Given the description of an element on the screen output the (x, y) to click on. 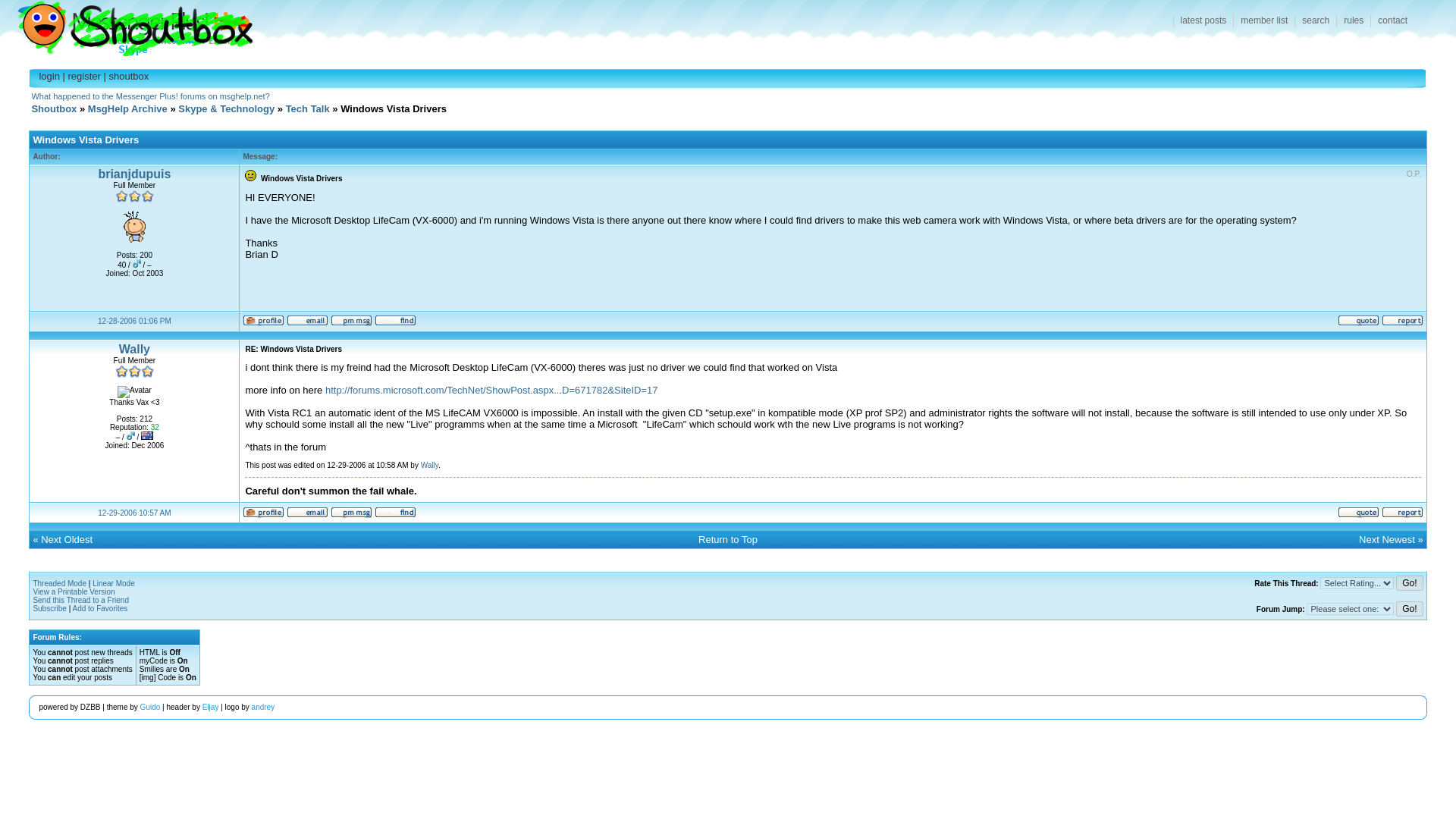
Threaded Mode (58, 583)
contact (1391, 21)
Tech Talk (307, 108)
Wally (134, 349)
register (83, 75)
MsgHelp Archive (127, 108)
brianjdupuis (133, 173)
Shoutbox (53, 108)
member list (1263, 21)
Original Poster (1413, 173)
